Given the description of an element on the screen output the (x, y) to click on. 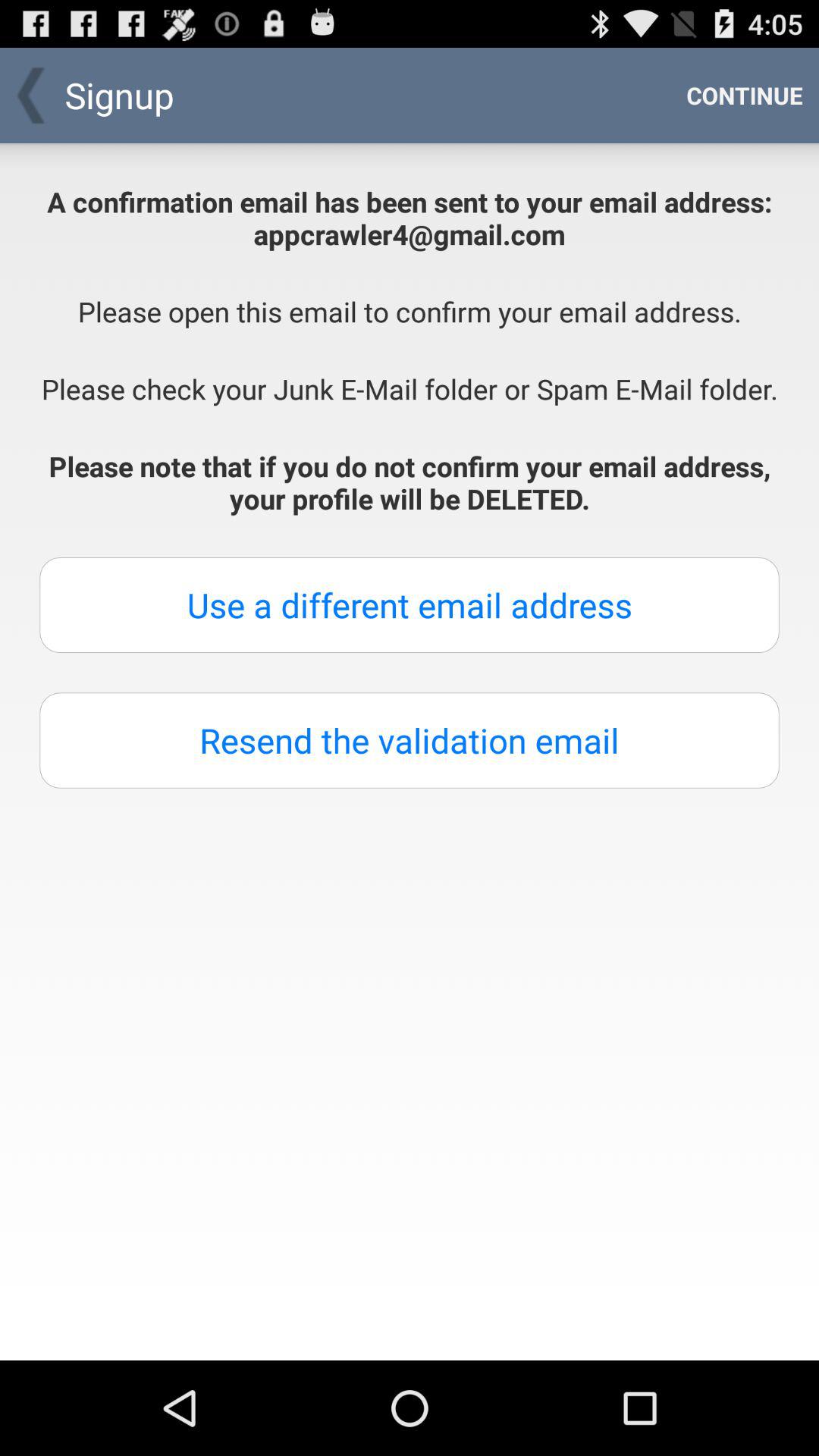
choose the app to the right of signup app (744, 95)
